Given the description of an element on the screen output the (x, y) to click on. 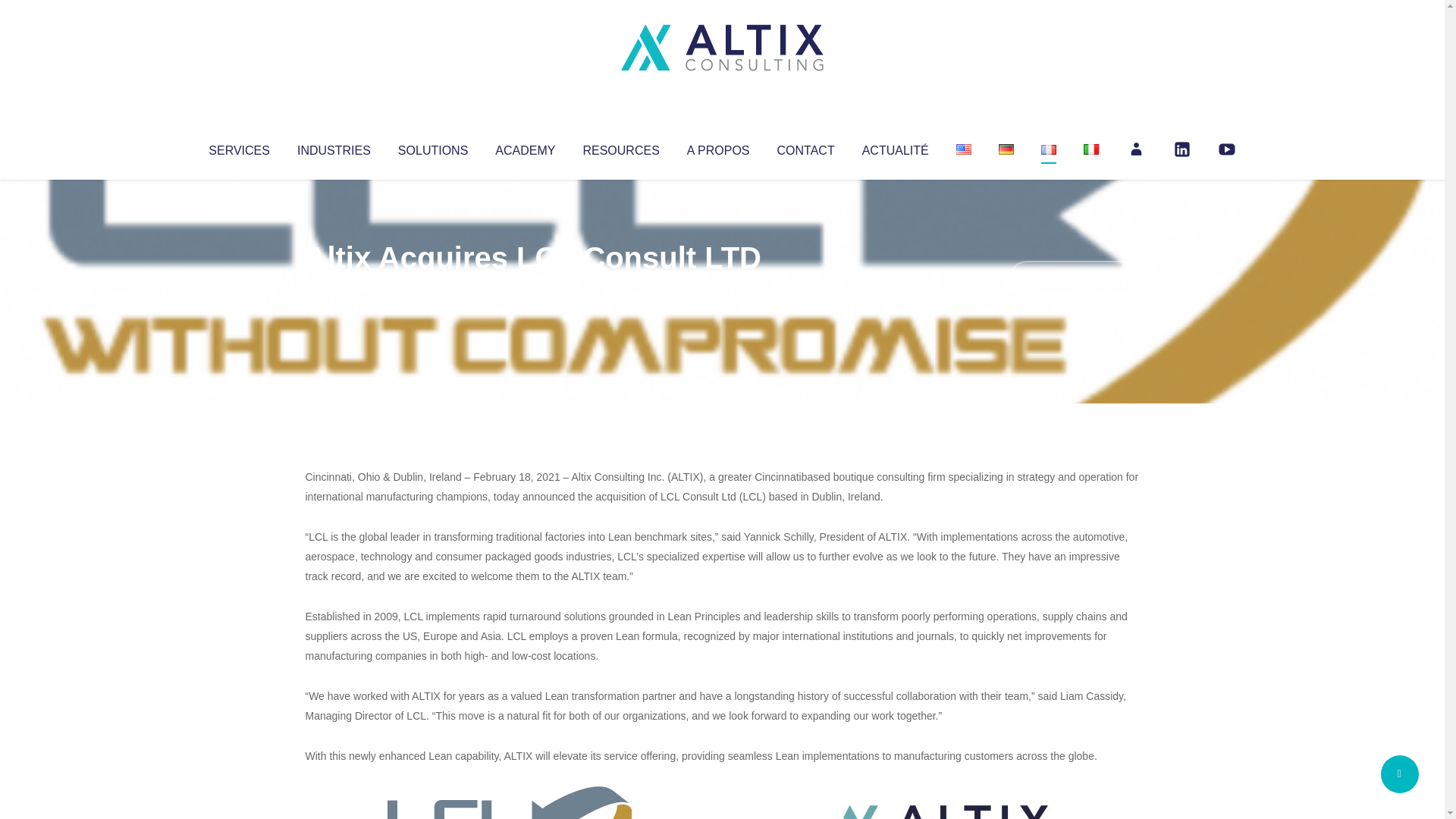
Articles par Altix (333, 287)
INDUSTRIES (334, 146)
SERVICES (238, 146)
No Comments (1073, 278)
Uncategorized (530, 287)
ACADEMY (524, 146)
RESOURCES (620, 146)
SOLUTIONS (432, 146)
A PROPOS (718, 146)
Altix (333, 287)
